Given the description of an element on the screen output the (x, y) to click on. 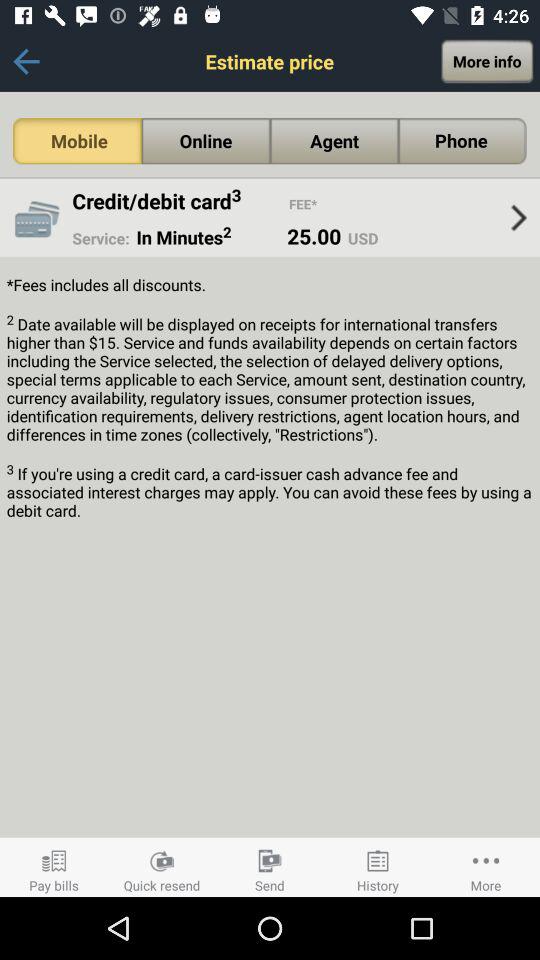
click usd icon (359, 238)
